Given the description of an element on the screen output the (x, y) to click on. 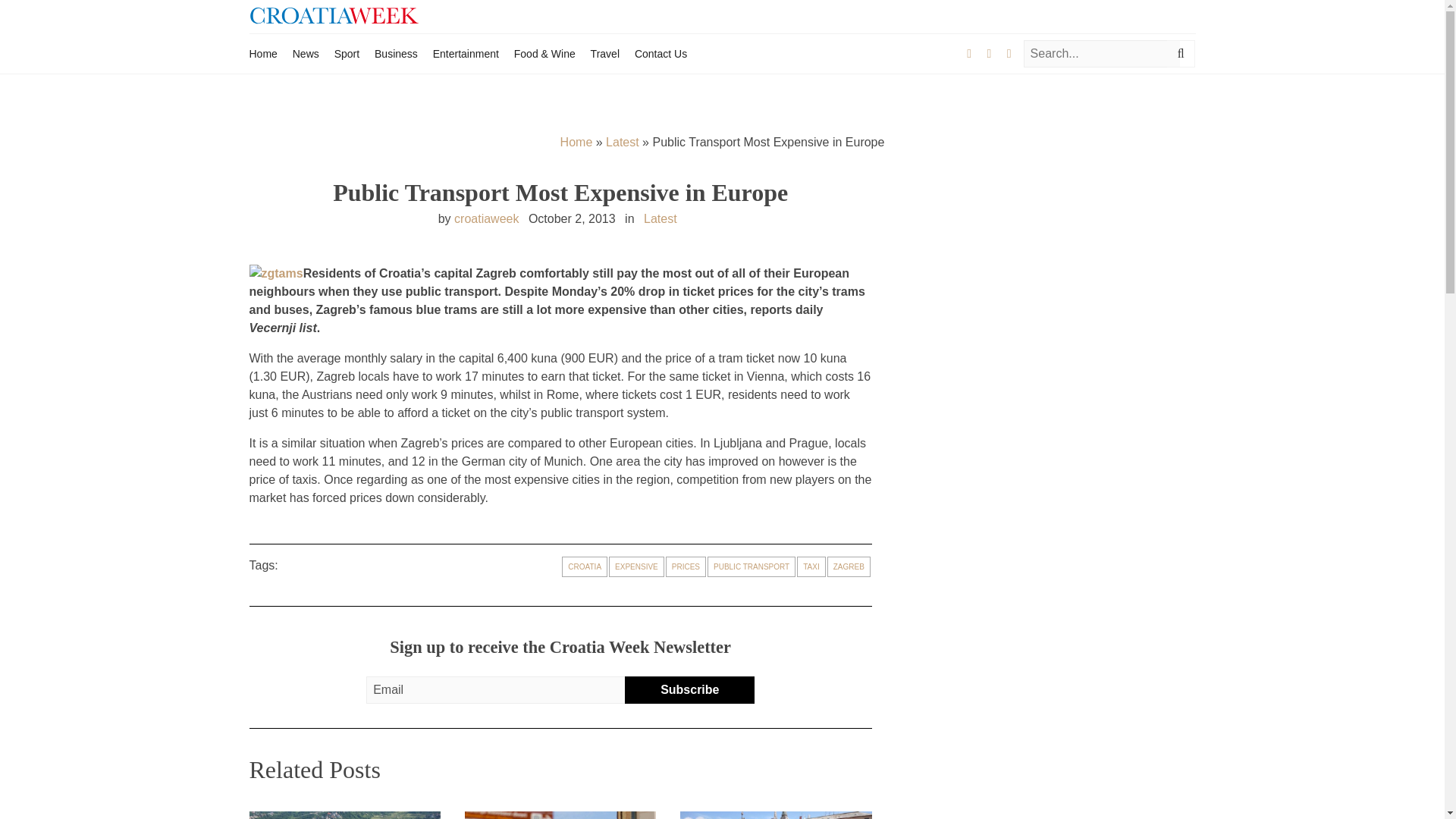
Travel (605, 53)
Subscribe (689, 689)
Business (395, 53)
News (305, 53)
Latest (660, 218)
Home (262, 53)
Email (502, 689)
Latest (622, 141)
PRICES (685, 566)
Contact Us (660, 53)
Sport (346, 53)
Subscribe (689, 689)
ZAGREB (848, 566)
Entertainment (465, 53)
CROATIA (584, 566)
